Given the description of an element on the screen output the (x, y) to click on. 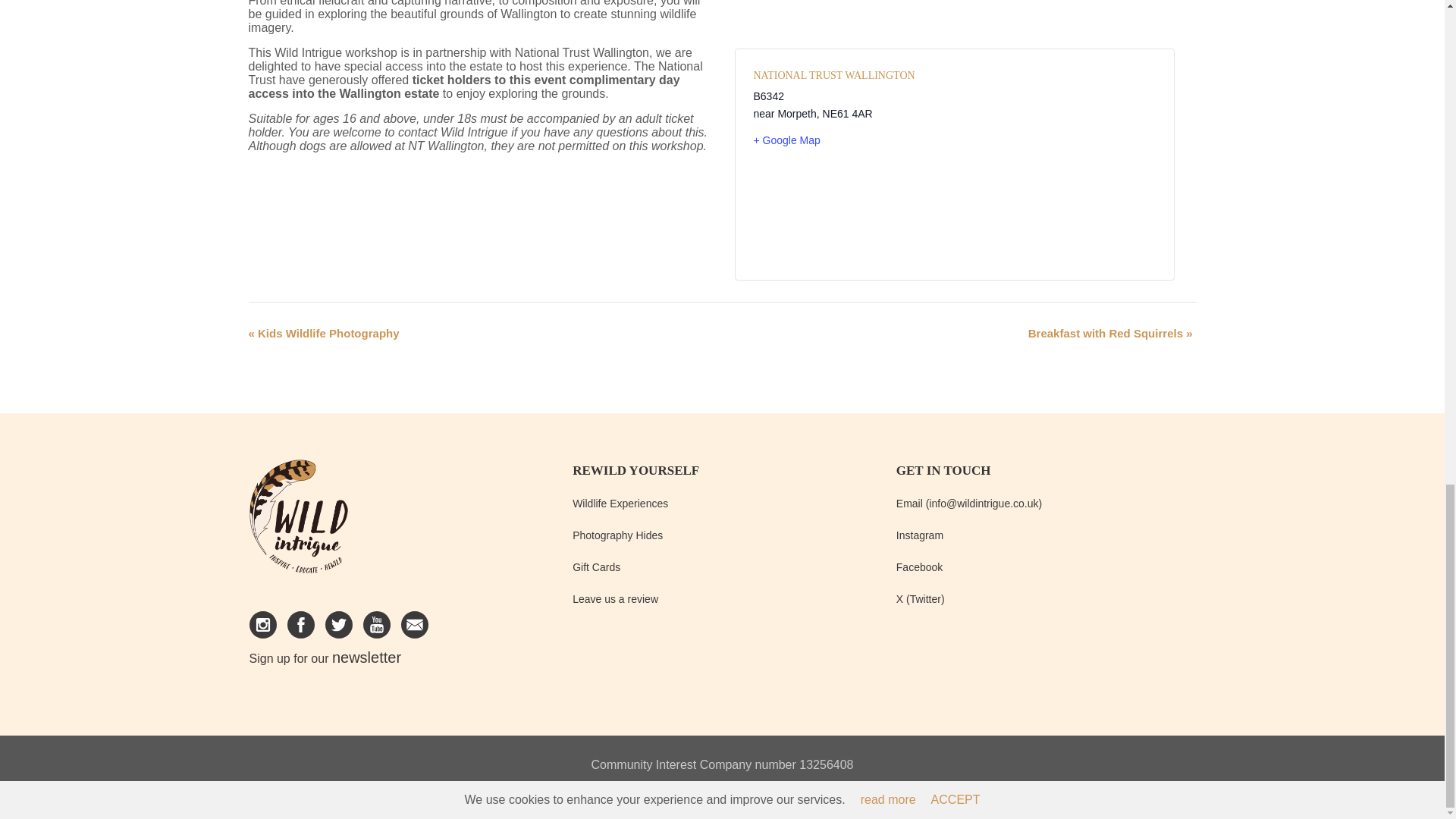
National Trust Wallington (834, 75)
NATIONAL TRUST WALLINGTON (834, 75)
Click to view a Google Map (848, 140)
home (297, 522)
newsletter (366, 657)
